Given the description of an element on the screen output the (x, y) to click on. 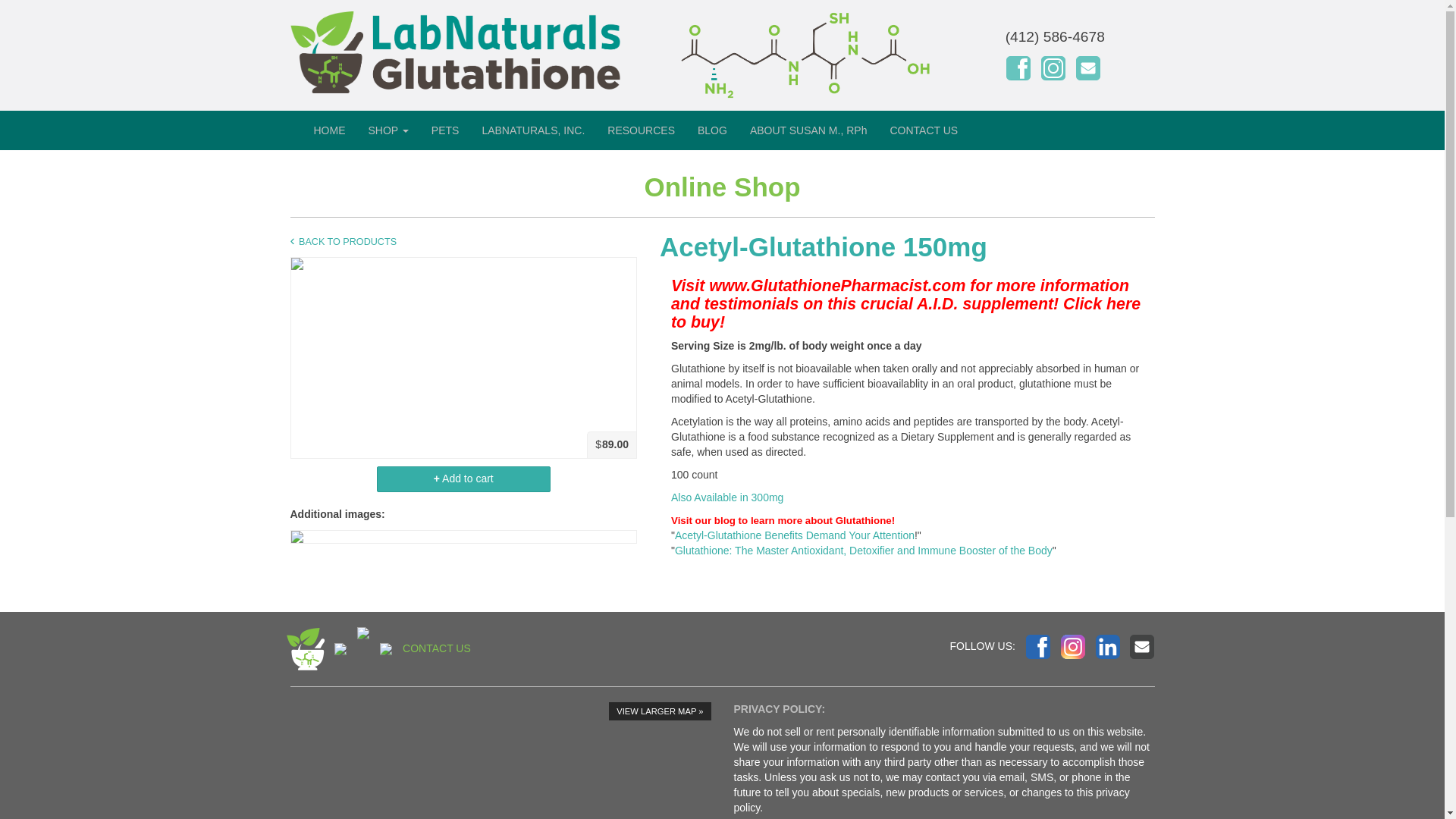
Acetyl-Glutathione Benefits Demand Your Attention (794, 535)
Visit us on Facebook (1018, 68)
Visit us on Instagram (1072, 646)
buy! (707, 321)
LABNATURALS, INC. (532, 130)
Contact Us (1141, 646)
SHOP (387, 130)
CONTACT US (923, 130)
PETS (445, 130)
HOME (328, 130)
Visit us on Facebook (1037, 646)
CONTACT US (436, 648)
BLOG (711, 130)
Connect with Susan on LinkedIn (1107, 646)
ABOUT SUSAN M., RPh (808, 130)
